Given the description of an element on the screen output the (x, y) to click on. 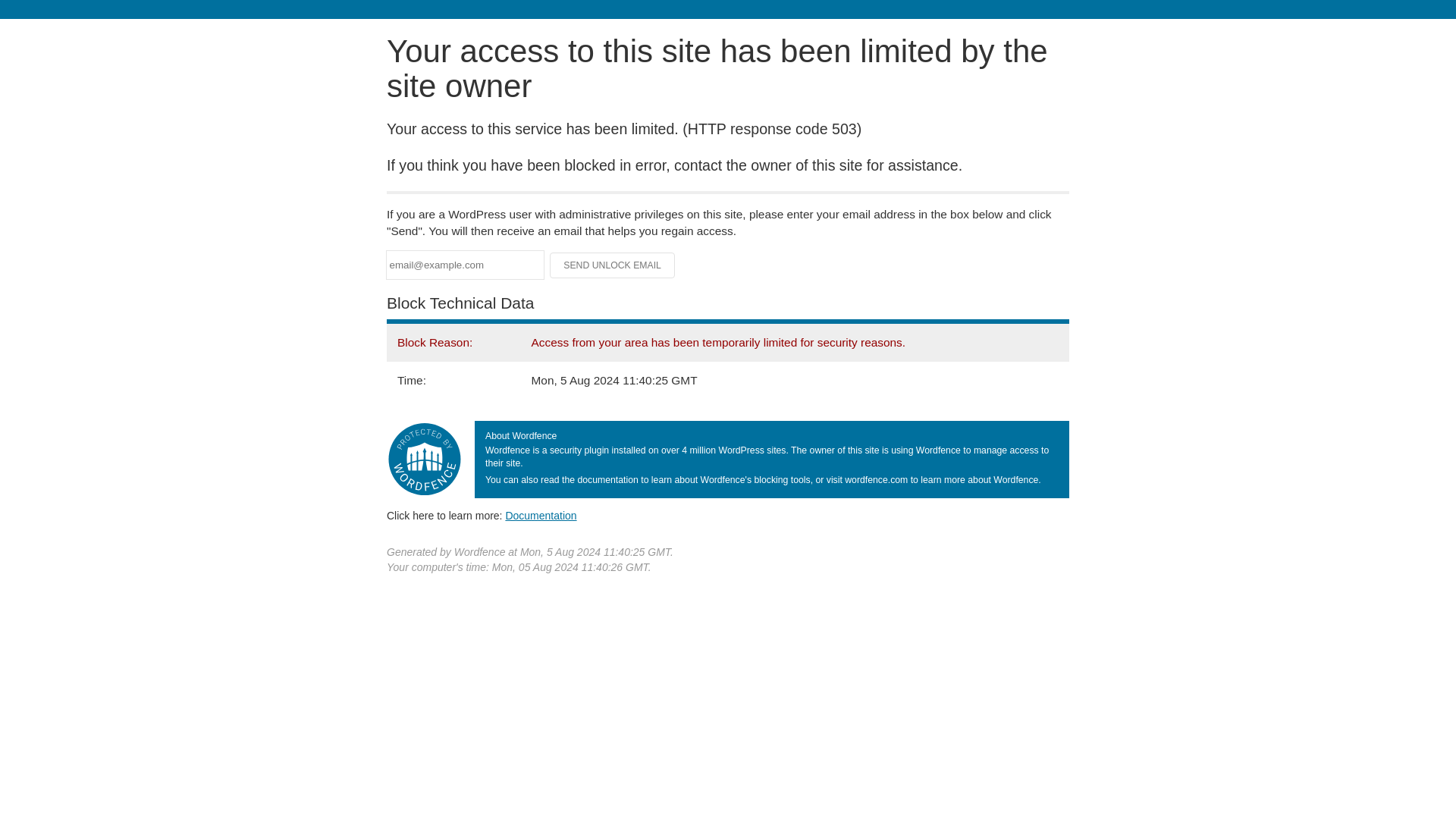
Send Unlock Email (612, 265)
Send Unlock Email (612, 265)
Documentation (540, 515)
